Given the description of an element on the screen output the (x, y) to click on. 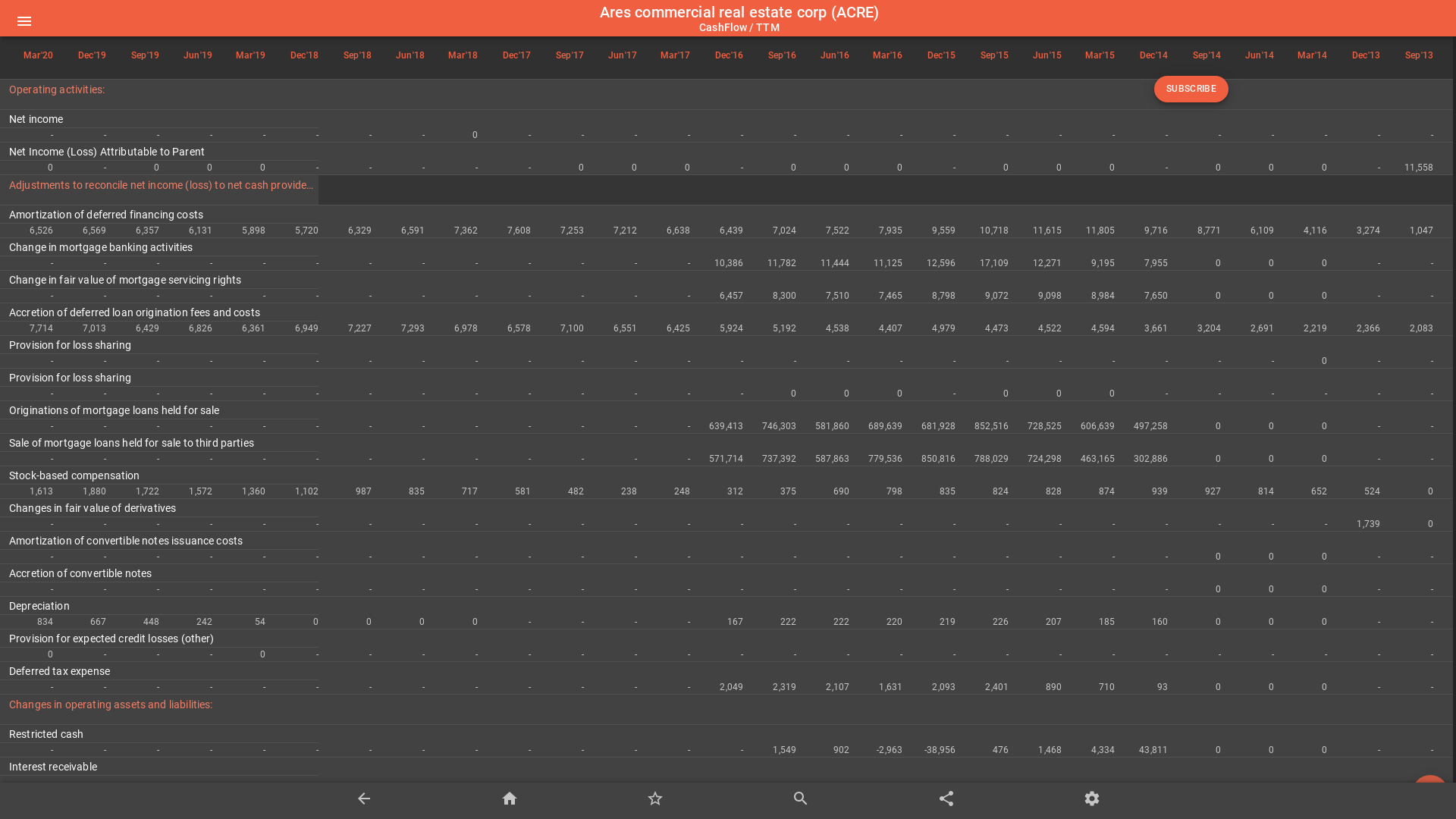
SUBSCRIBE Element type: text (1191, 88)
+ Element type: text (1430, 793)
